Given the description of an element on the screen output the (x, y) to click on. 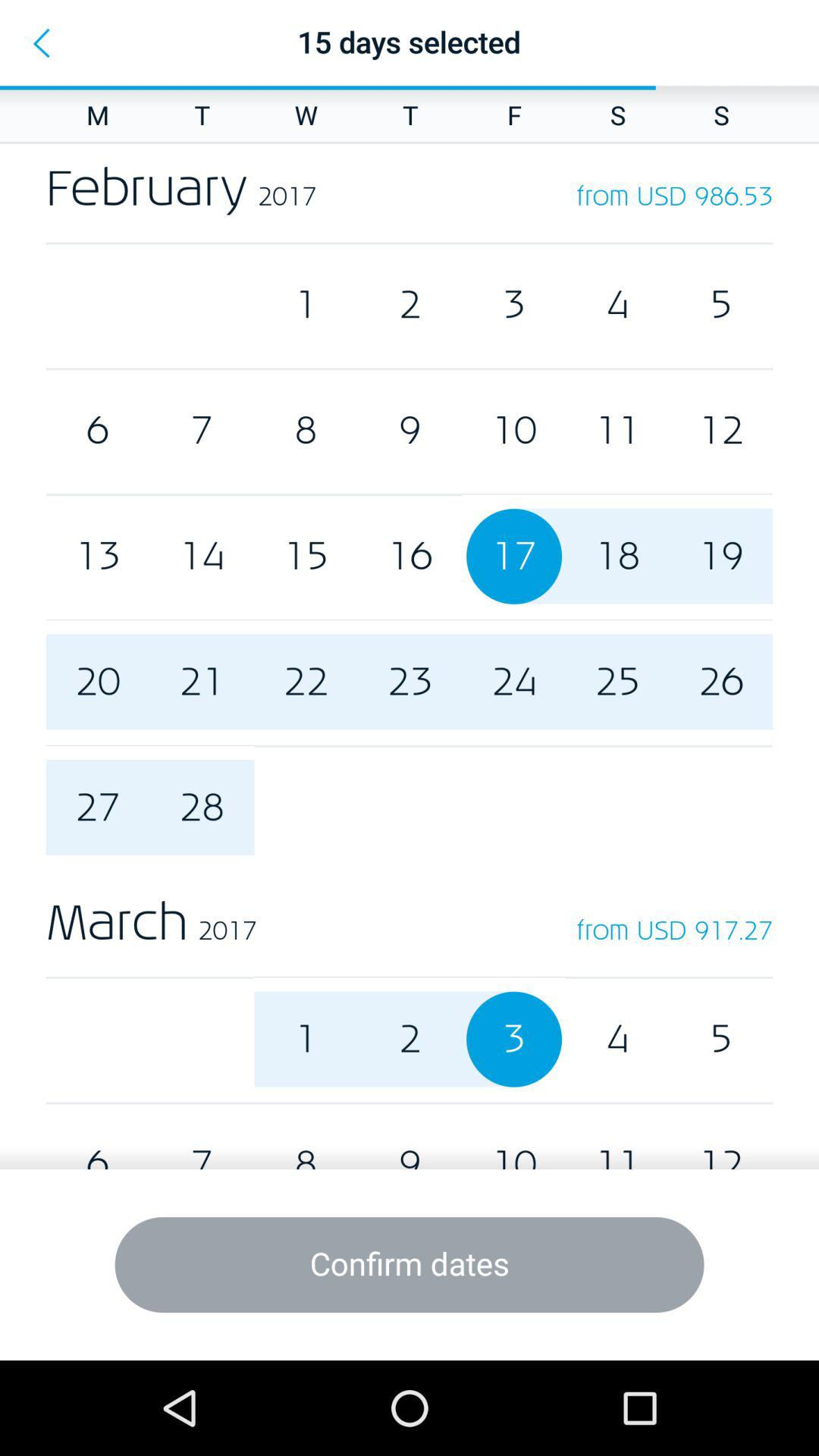
jump to the confirm dates (409, 1264)
